Given the description of an element on the screen output the (x, y) to click on. 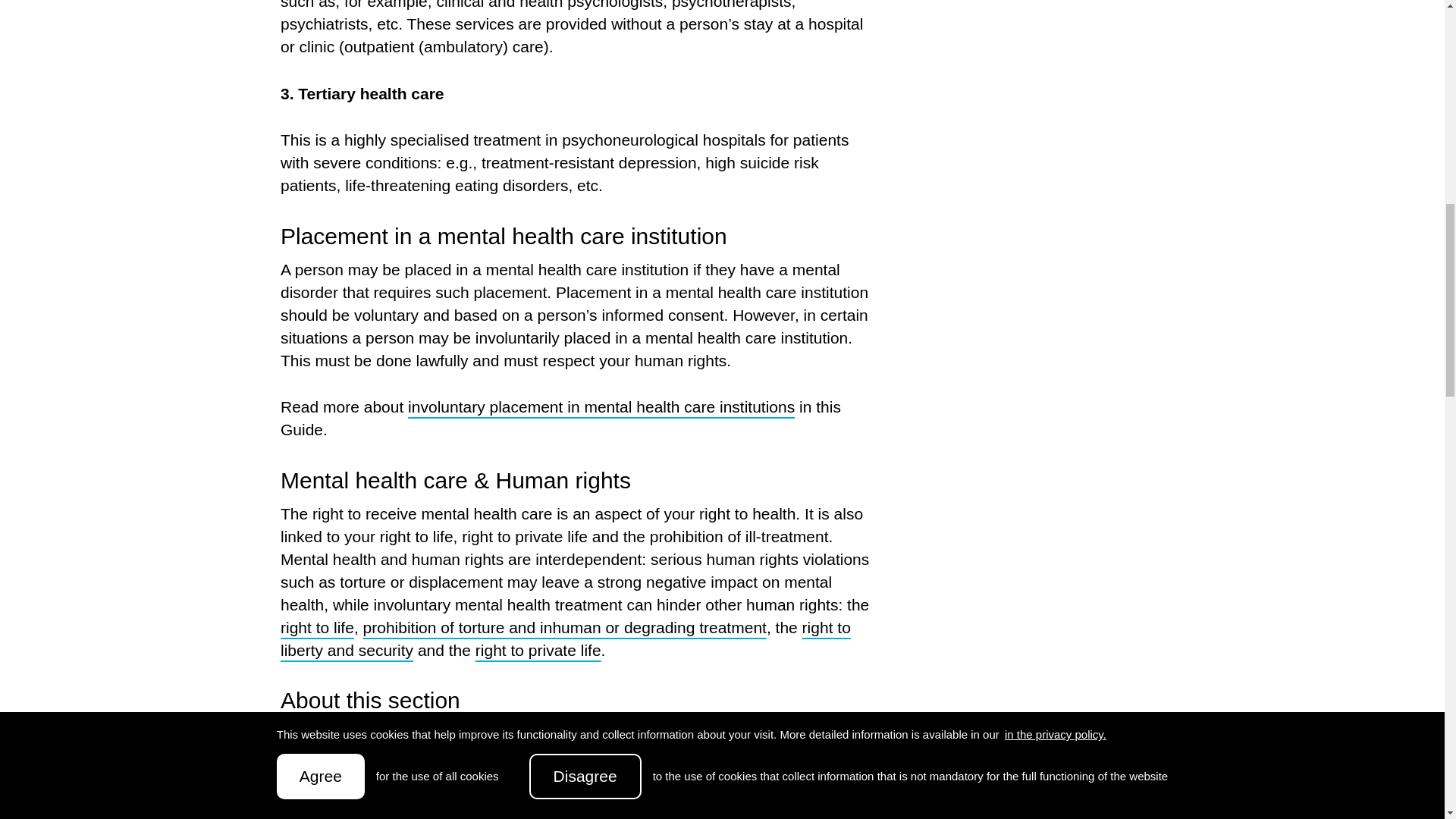
prohibition of torture and inhuman or degrading treatment (564, 627)
Right to liberty and security of a person (565, 639)
right to private life (538, 650)
involuntary placement in mental health care institutions (600, 406)
right to life (317, 627)
prohibition of torture and inhuman or degrading treatment (564, 627)
right to private life (538, 650)
right to life (317, 627)
right to liberty and security (565, 639)
